Given the description of an element on the screen output the (x, y) to click on. 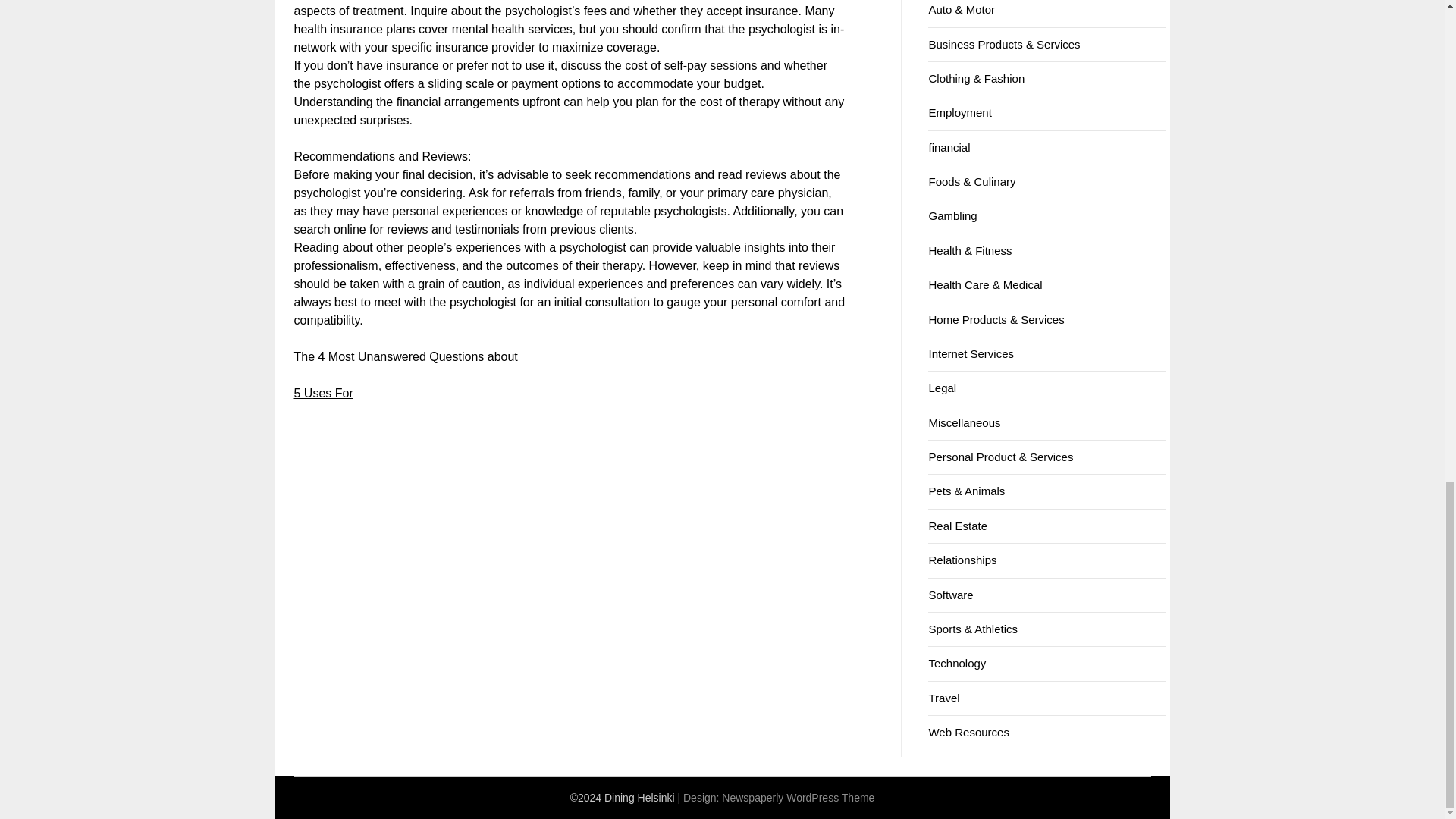
Employment (959, 112)
The 4 Most Unanswered Questions about (406, 356)
Gambling (952, 215)
5 Uses For (323, 392)
Miscellaneous (964, 422)
Internet Services (970, 353)
Legal (942, 387)
financial (948, 146)
